Given the description of an element on the screen output the (x, y) to click on. 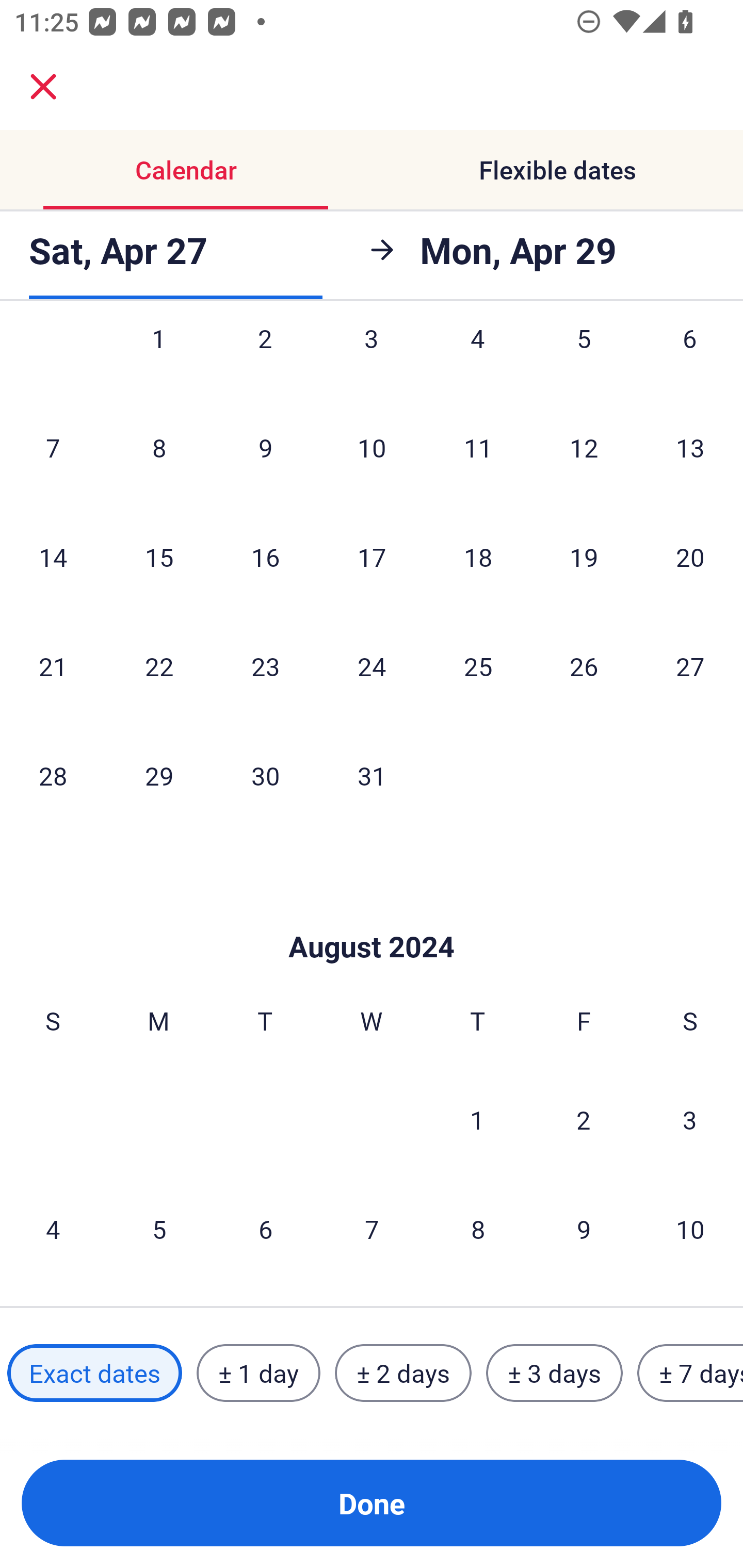
close. (43, 86)
Flexible dates (557, 170)
1 Monday, July 1, 2024 (158, 360)
2 Tuesday, July 2, 2024 (264, 360)
3 Wednesday, July 3, 2024 (371, 360)
4 Thursday, July 4, 2024 (477, 360)
5 Friday, July 5, 2024 (583, 360)
6 Saturday, July 6, 2024 (689, 360)
7 Sunday, July 7, 2024 (53, 447)
8 Monday, July 8, 2024 (159, 447)
9 Tuesday, July 9, 2024 (265, 447)
10 Wednesday, July 10, 2024 (371, 447)
11 Thursday, July 11, 2024 (477, 447)
12 Friday, July 12, 2024 (584, 447)
13 Saturday, July 13, 2024 (690, 447)
14 Sunday, July 14, 2024 (53, 556)
15 Monday, July 15, 2024 (159, 556)
16 Tuesday, July 16, 2024 (265, 556)
17 Wednesday, July 17, 2024 (371, 556)
18 Thursday, July 18, 2024 (477, 556)
